Given the description of an element on the screen output the (x, y) to click on. 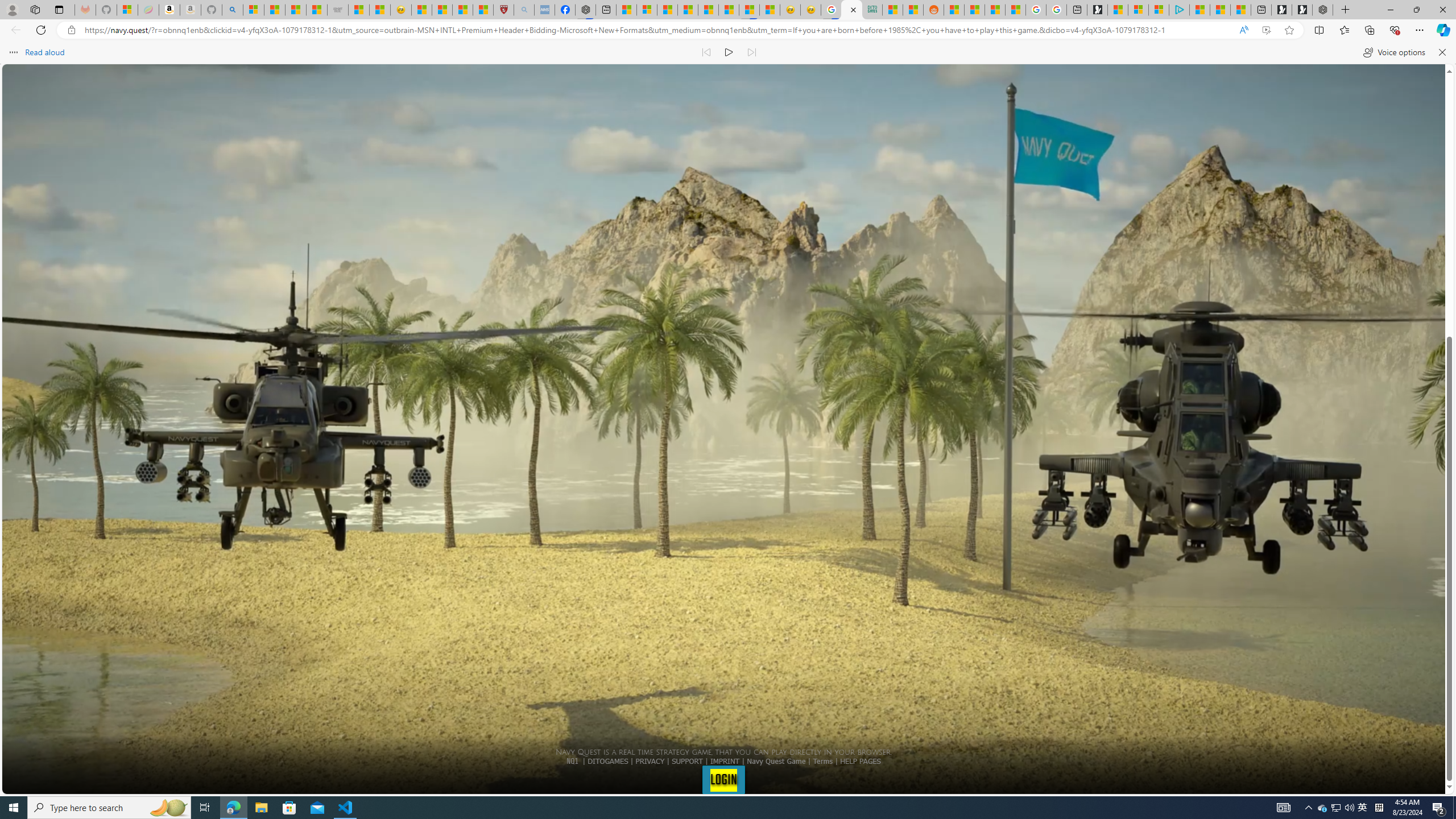
PRIVACY (649, 760)
LOGIN (723, 778)
R******* | Trusted Community Engagement and Contributions (954, 9)
Continue to read aloud (Ctrl+Shift+U) (729, 52)
